Given the description of an element on the screen output the (x, y) to click on. 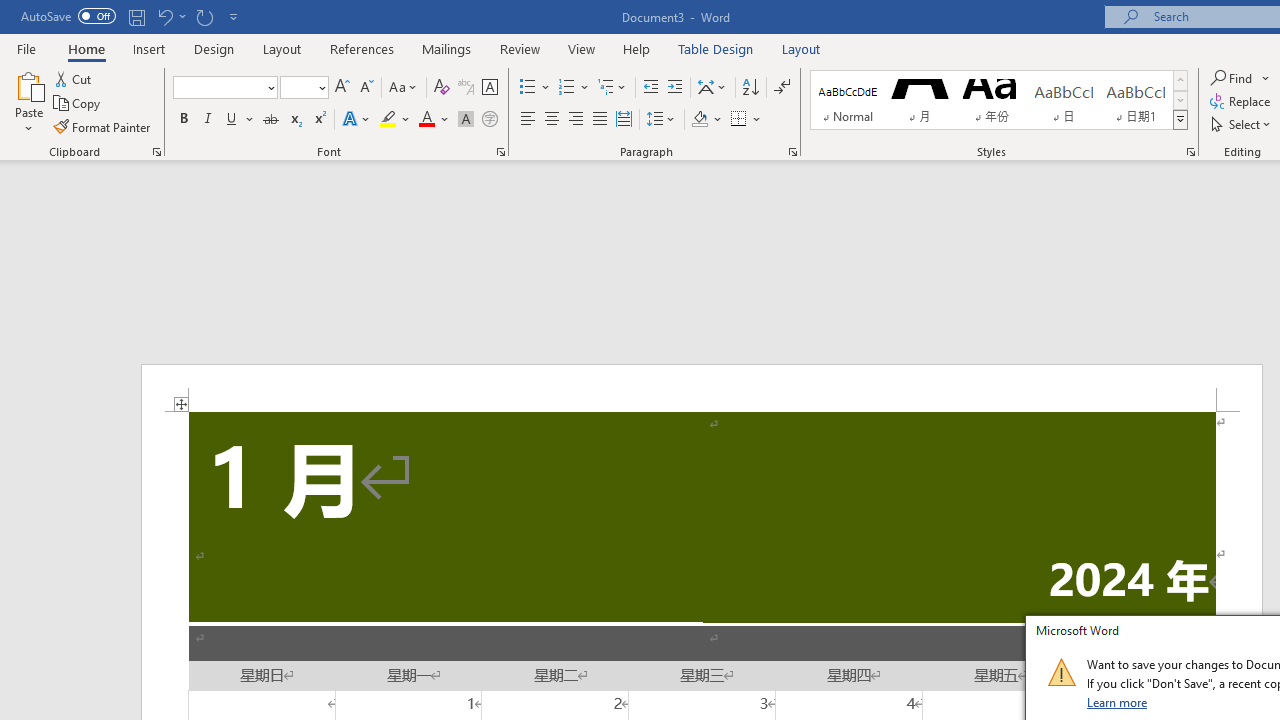
Cut (73, 78)
Justify (599, 119)
Bold (183, 119)
Select (1242, 124)
Row Down (1179, 100)
Phonetic Guide... (465, 87)
Replace... (1242, 101)
Enclose Characters... (489, 119)
Character Shading (465, 119)
Styles... (1190, 151)
Clear Formatting (442, 87)
